Given the description of an element on the screen output the (x, y) to click on. 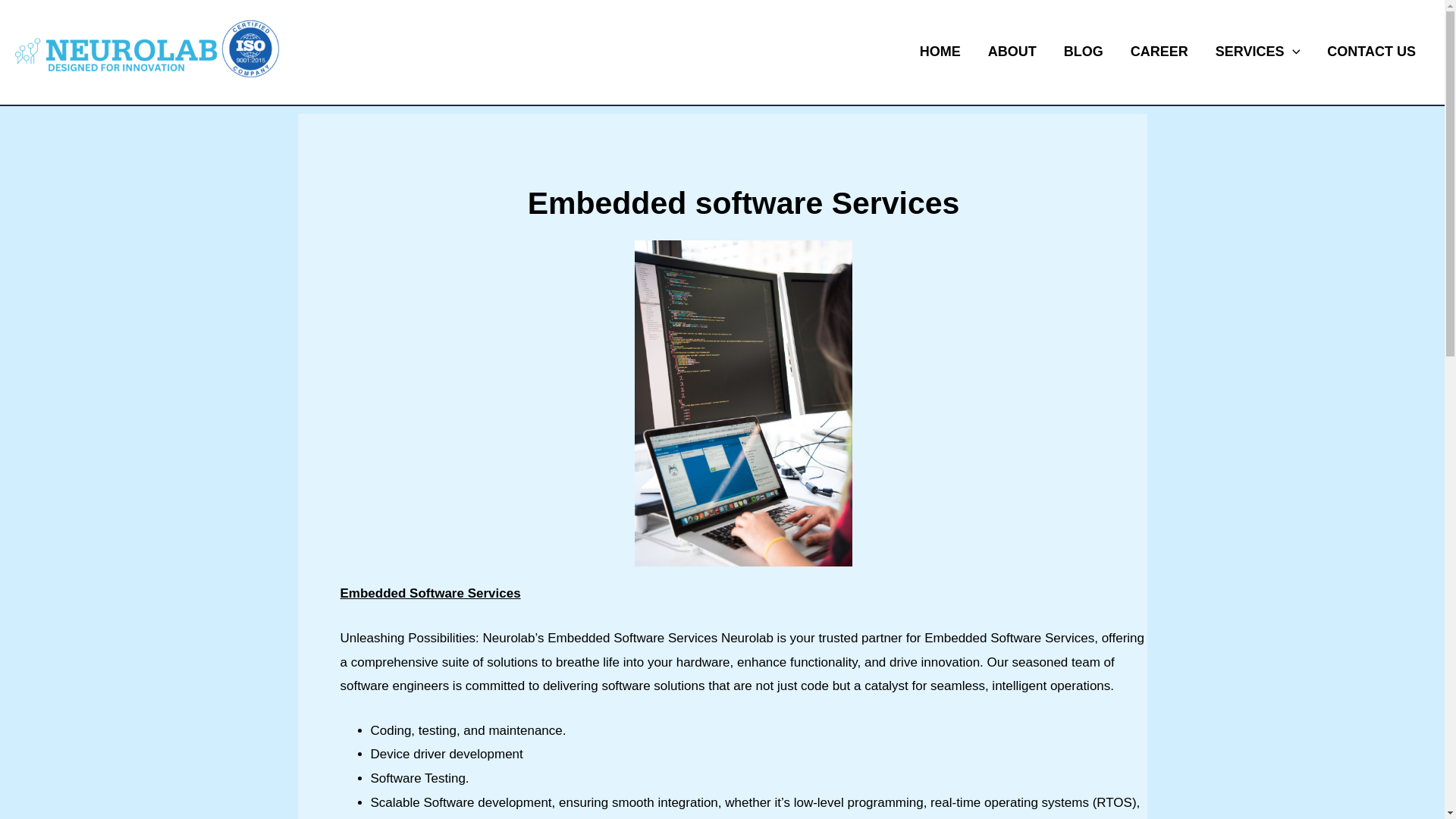
HOME (939, 51)
CONTACT US (1371, 51)
BLOG (1082, 51)
ABOUT (1011, 51)
CAREER (1159, 51)
SERVICES (1258, 51)
